Given the description of an element on the screen output the (x, y) to click on. 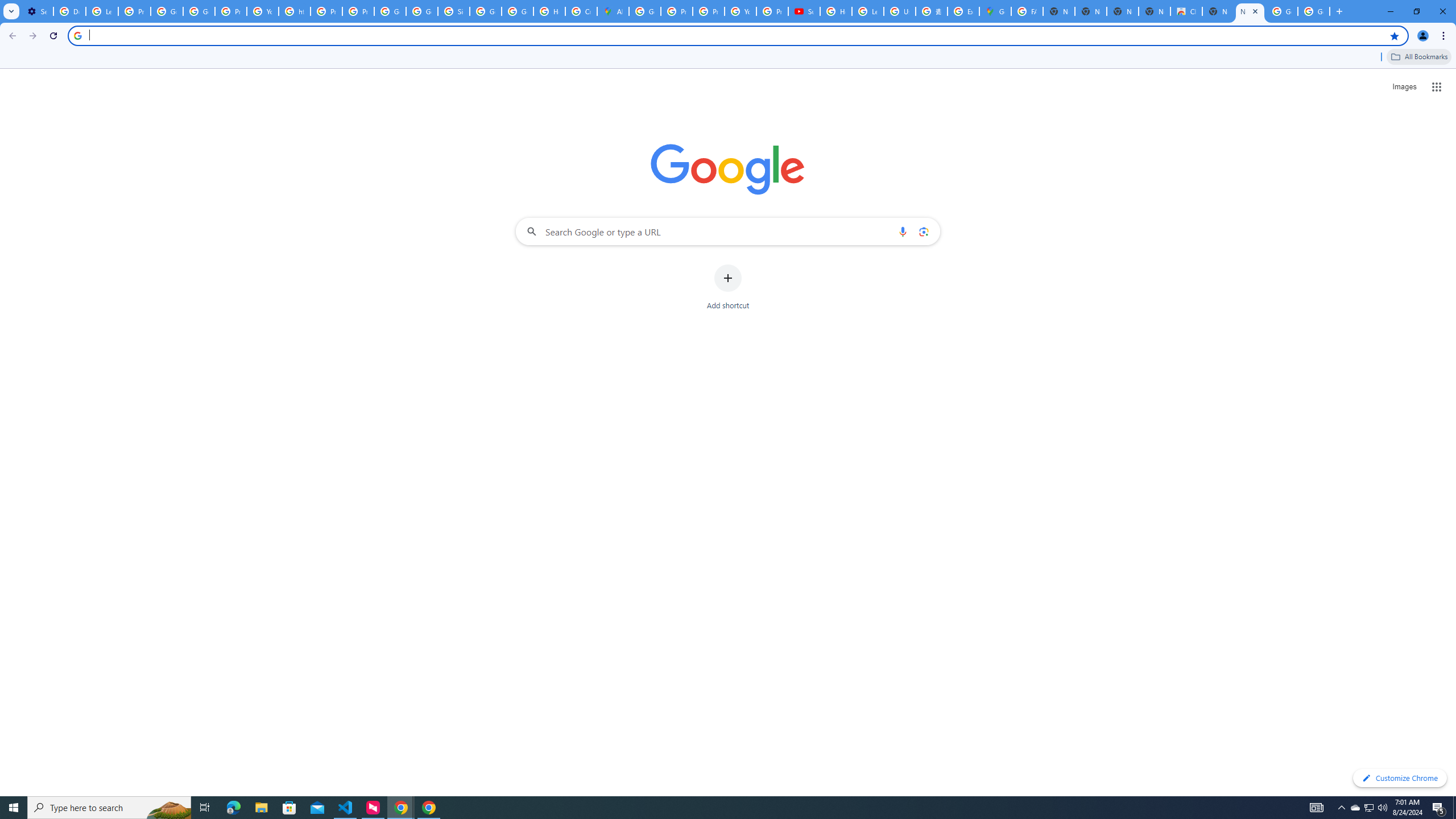
Create your Google Account (581, 11)
Sign in - Google Accounts (453, 11)
Google Images (1313, 11)
YouTube (740, 11)
Chrome Web Store (1185, 11)
